Given the description of an element on the screen output the (x, y) to click on. 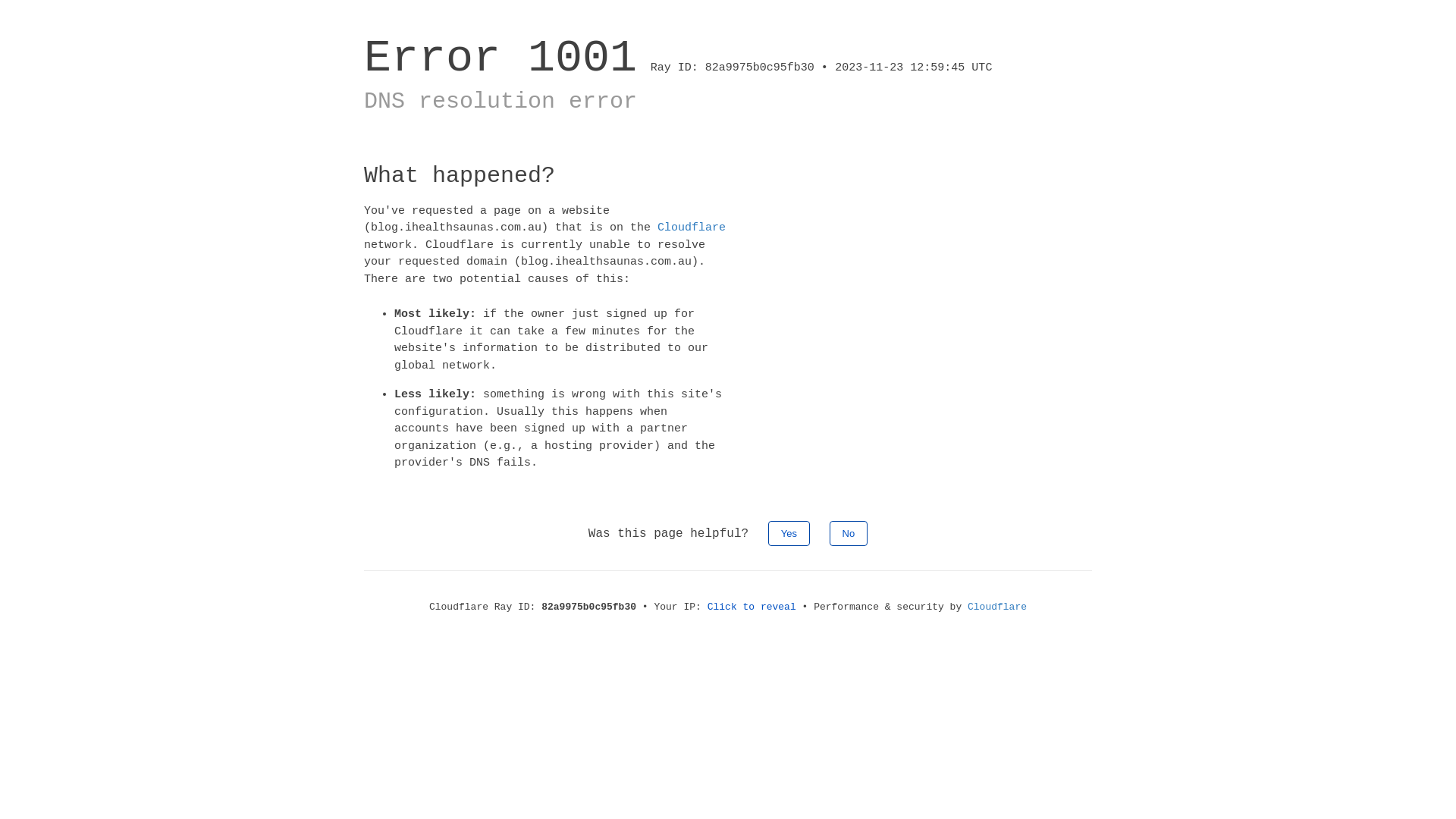
Cloudflare Element type: text (996, 605)
Cloudflare Element type: text (691, 227)
Click to reveal Element type: text (751, 605)
Yes Element type: text (788, 532)
No Element type: text (848, 532)
